Given the description of an element on the screen output the (x, y) to click on. 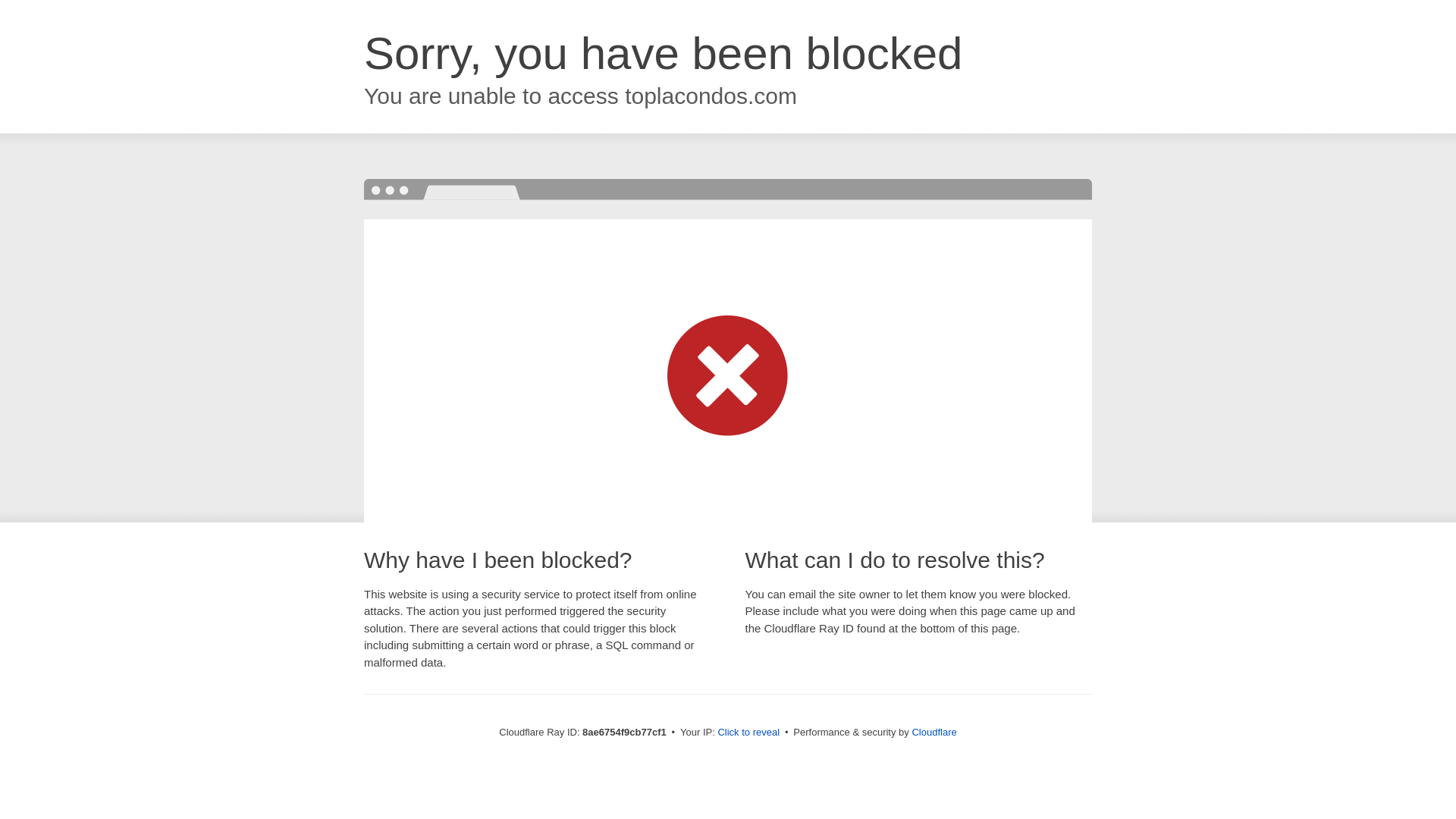
Click to reveal (747, 732)
Cloudflare (933, 731)
